Given the description of an element on the screen output the (x, y) to click on. 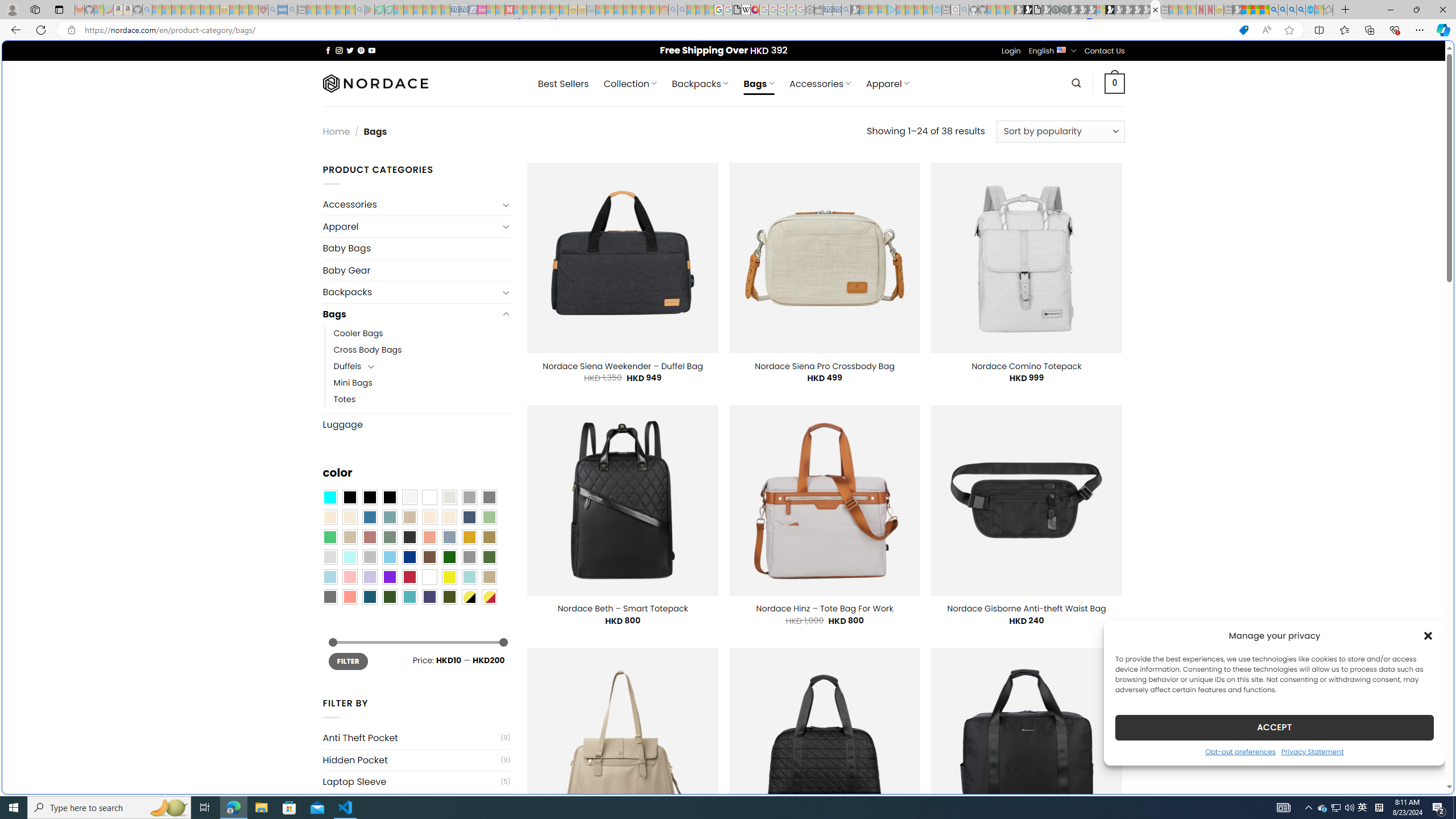
Nordace Gisborne Anti-theft Waist Bag (1026, 608)
Ash Gray (449, 497)
Beige-Brown (349, 517)
Blue (369, 517)
Nordace Comino Totepack (1026, 365)
Pink (349, 577)
